Given the description of an element on the screen output the (x, y) to click on. 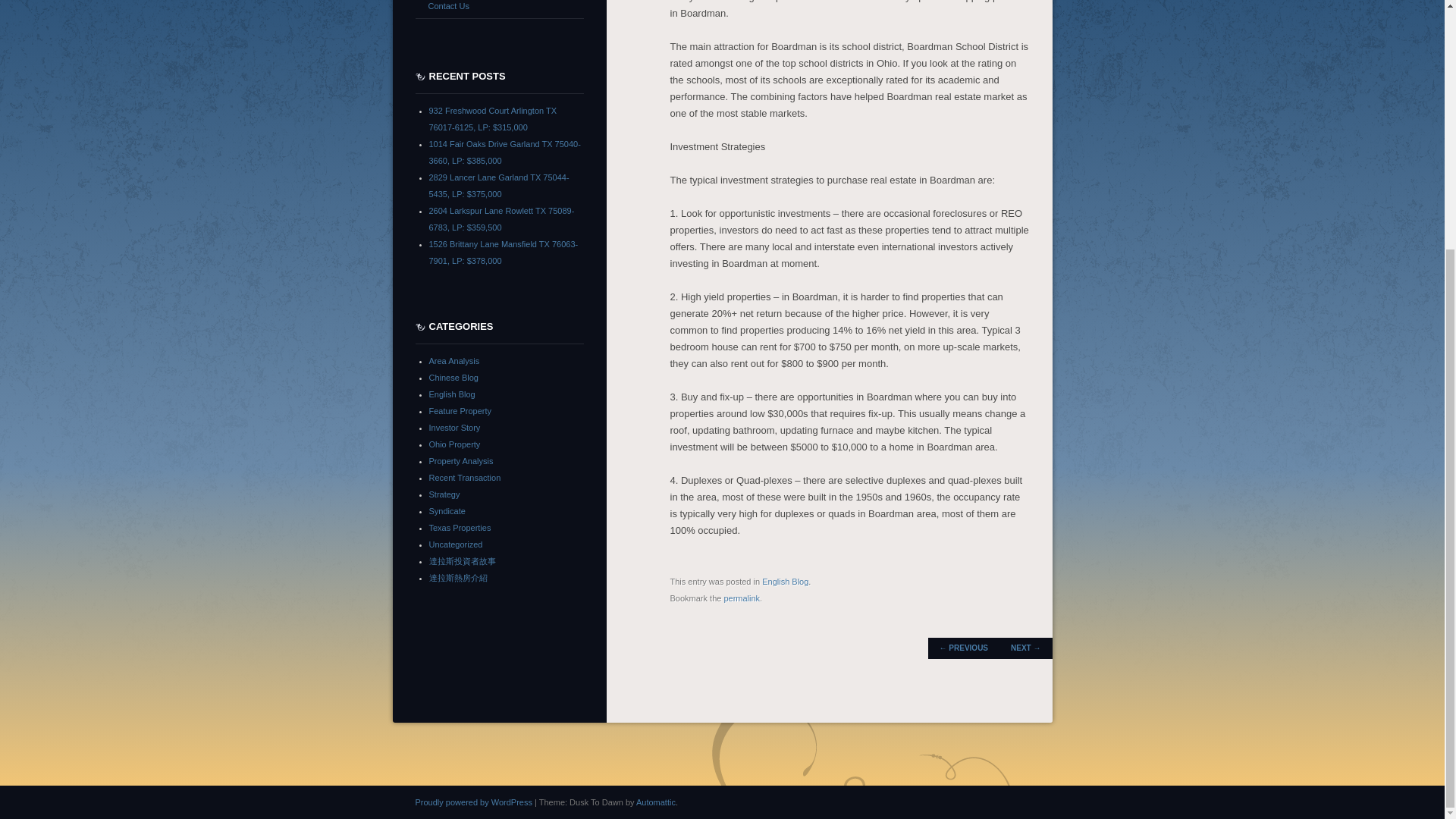
Area Analysis (454, 359)
Investor Story (454, 426)
Property Analysis (461, 460)
English Blog (784, 581)
Recent Transaction (464, 476)
Feature Property (460, 409)
Ohio Property (454, 442)
Contact Us (498, 8)
Texas Properties (460, 526)
Proudly powered by WordPress (473, 800)
